Given the description of an element on the screen output the (x, y) to click on. 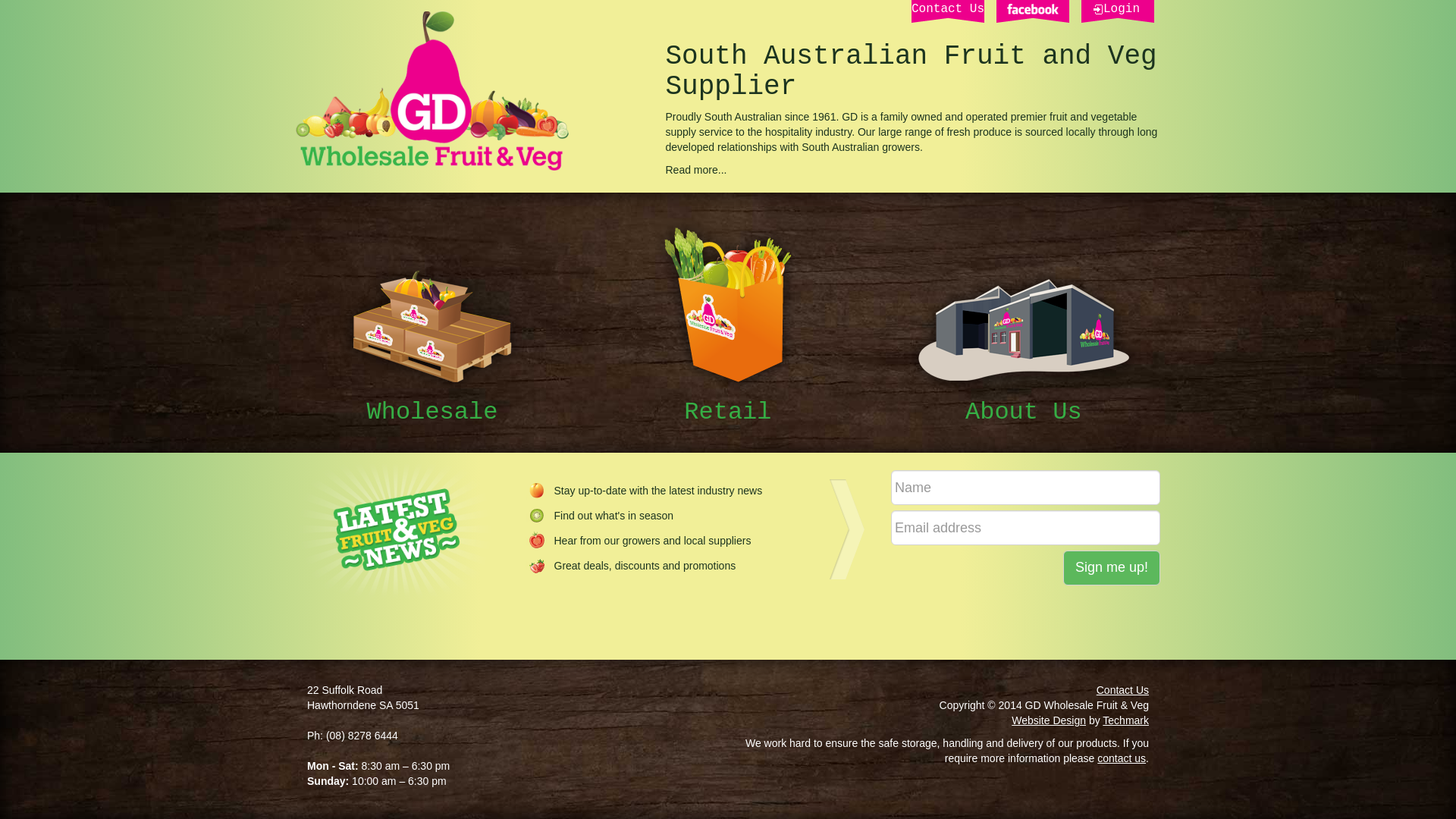
Wholesale Element type: text (431, 342)
Retail Element type: text (727, 322)
Facebook Element type: text (1032, 11)
Contact Us Element type: text (1122, 690)
Contact Us Element type: text (947, 11)
Login Element type: text (1117, 11)
Website Design Element type: text (1048, 720)
contact us Element type: text (1121, 758)
Techmark Element type: text (1125, 720)
About Us Element type: text (1023, 347)
Sign me up! Element type: text (1111, 567)
